Given the description of an element on the screen output the (x, y) to click on. 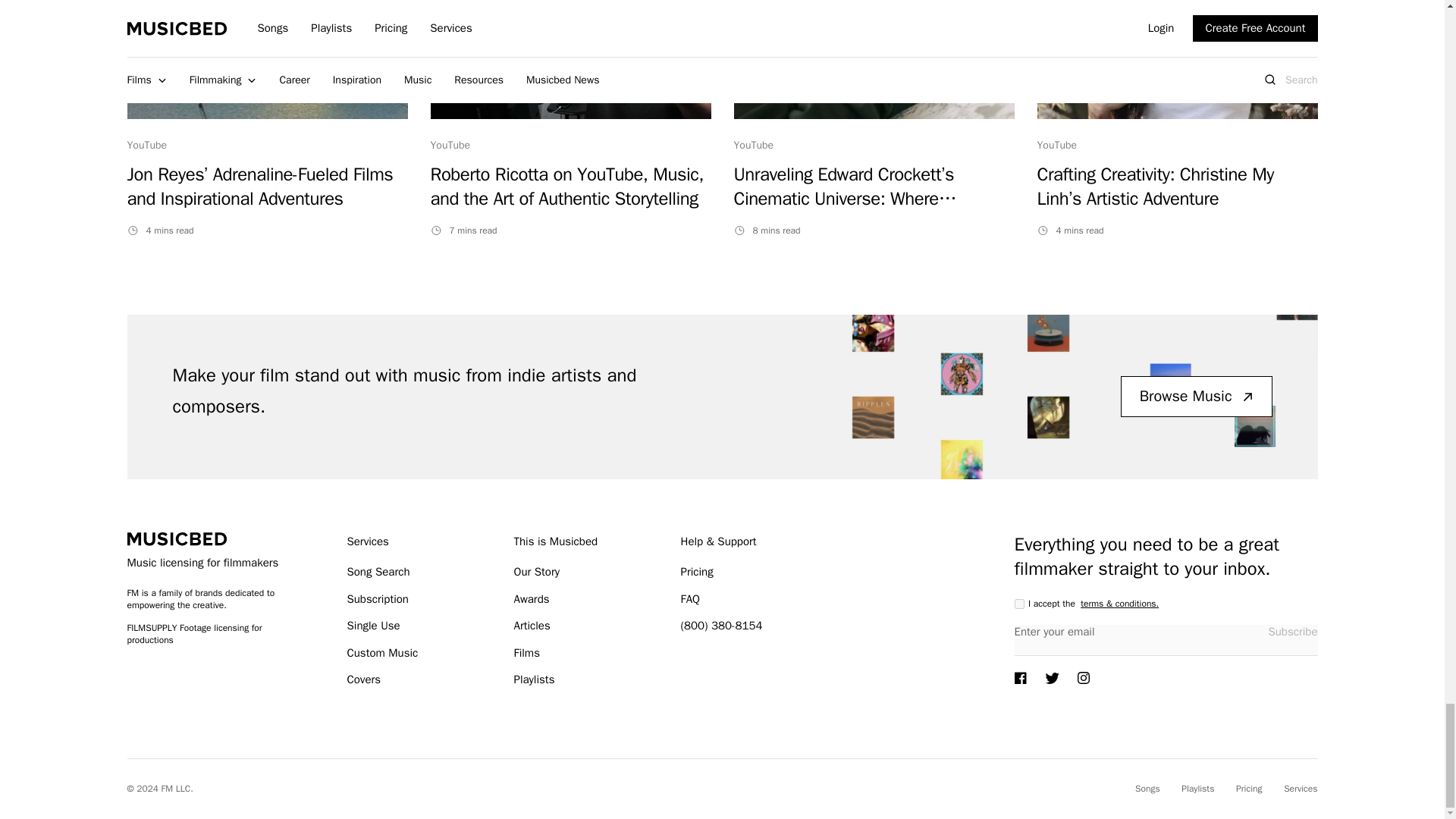
true (1019, 603)
Subscribe (1292, 631)
